Given the description of an element on the screen output the (x, y) to click on. 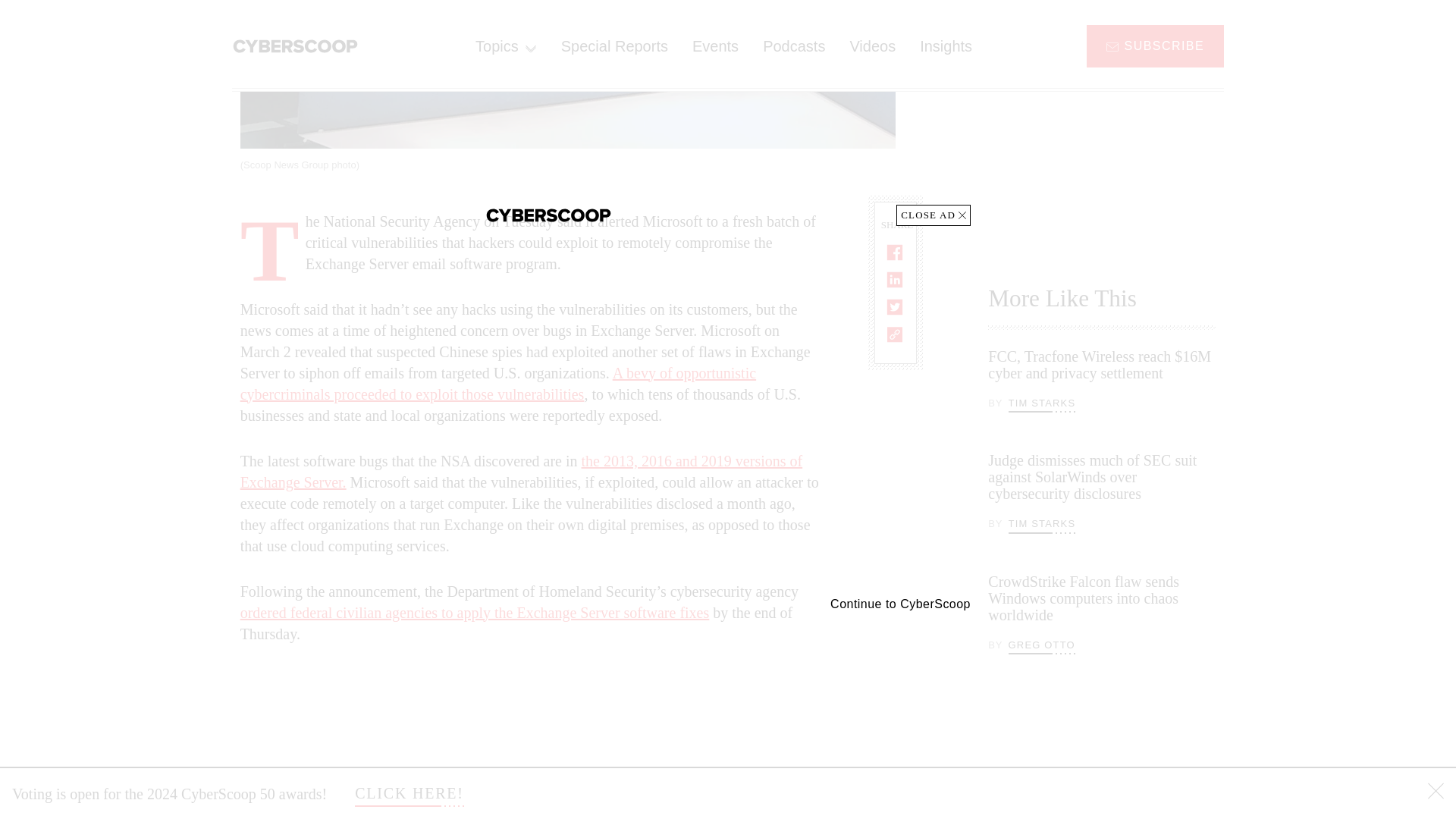
3rd party ad content (1101, 123)
